Given the description of an element on the screen output the (x, y) to click on. 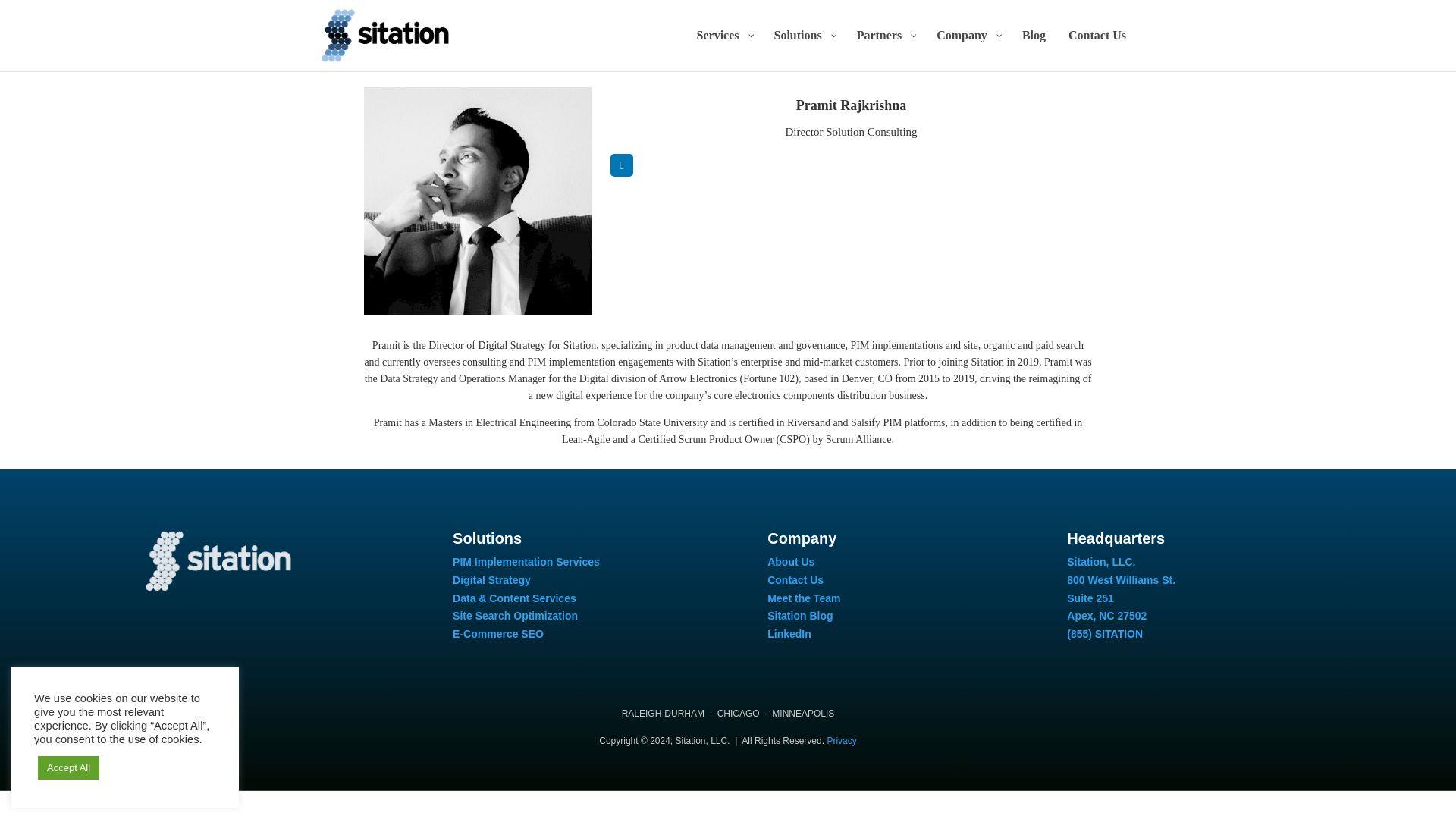
Partners (885, 49)
Linkedin (621, 164)
sitation white (218, 560)
Solutions (803, 49)
Services (723, 49)
